Given the description of an element on the screen output the (x, y) to click on. 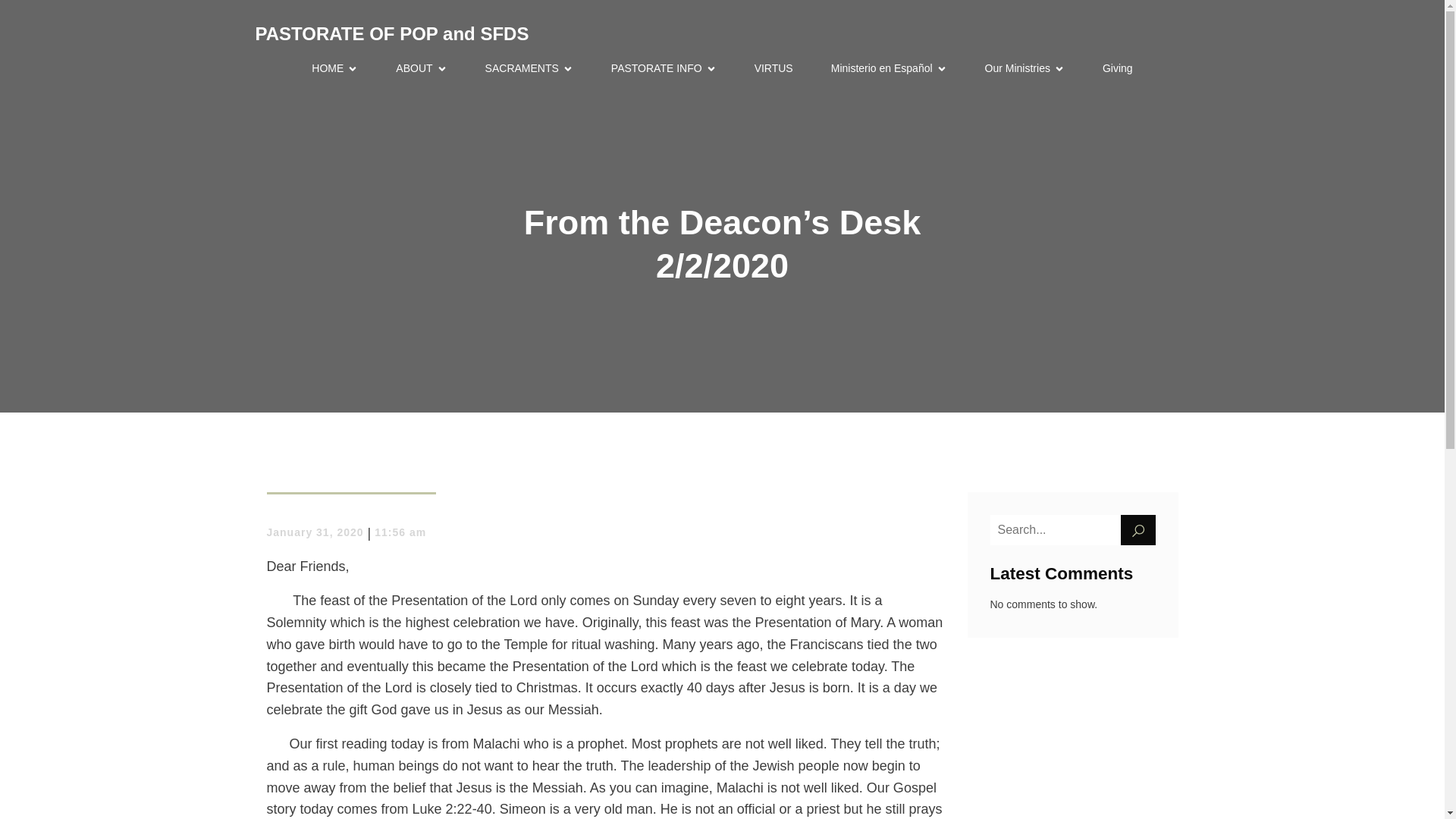
HOME (334, 68)
SACRAMENTS (528, 68)
PASTORATE OF POP and SFDS (391, 33)
ABOUT (421, 68)
Our Ministries (1024, 68)
PASTORATE INFO (663, 68)
VIRTUS (773, 68)
